Given the description of an element on the screen output the (x, y) to click on. 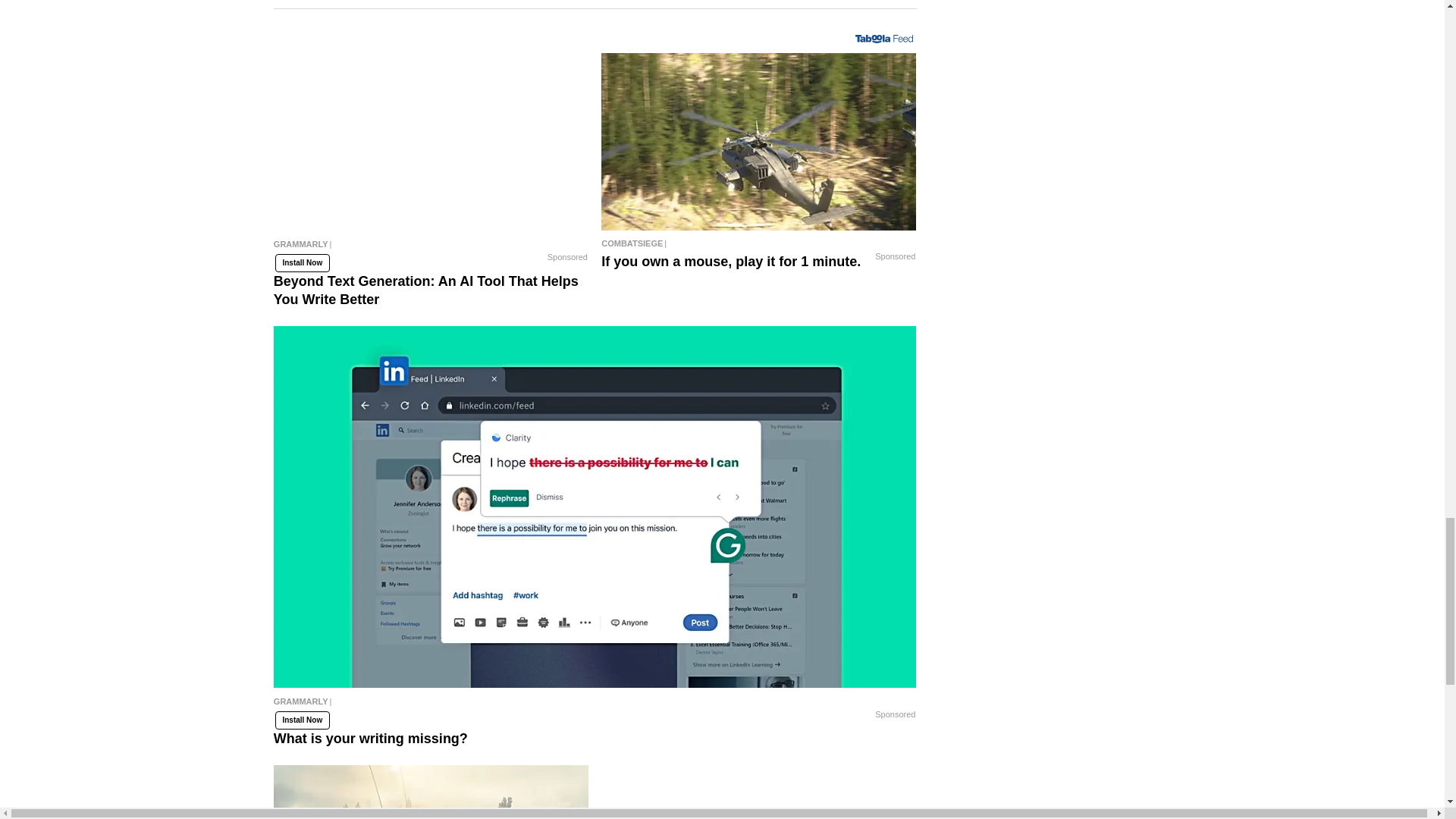
If you own a mouse, play it for 1 minute. (758, 243)
Join new Free to Play WWII MMO War Thunder (430, 791)
What is your writing missing? (595, 705)
If you own a mouse, play it for 1 minute. (758, 141)
